Given the description of an element on the screen output the (x, y) to click on. 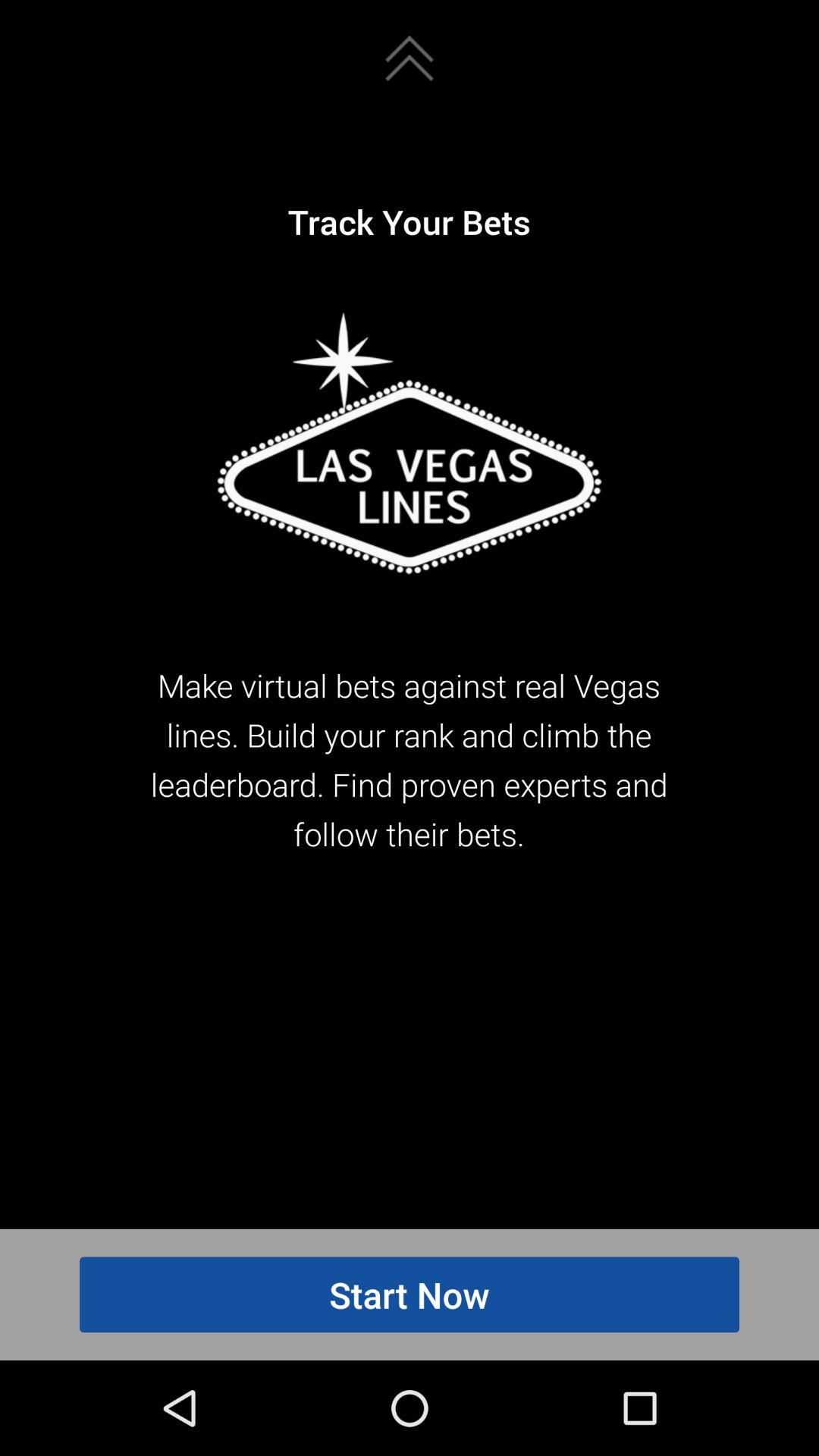
choose icon at the bottom (409, 1294)
